Given the description of an element on the screen output the (x, y) to click on. 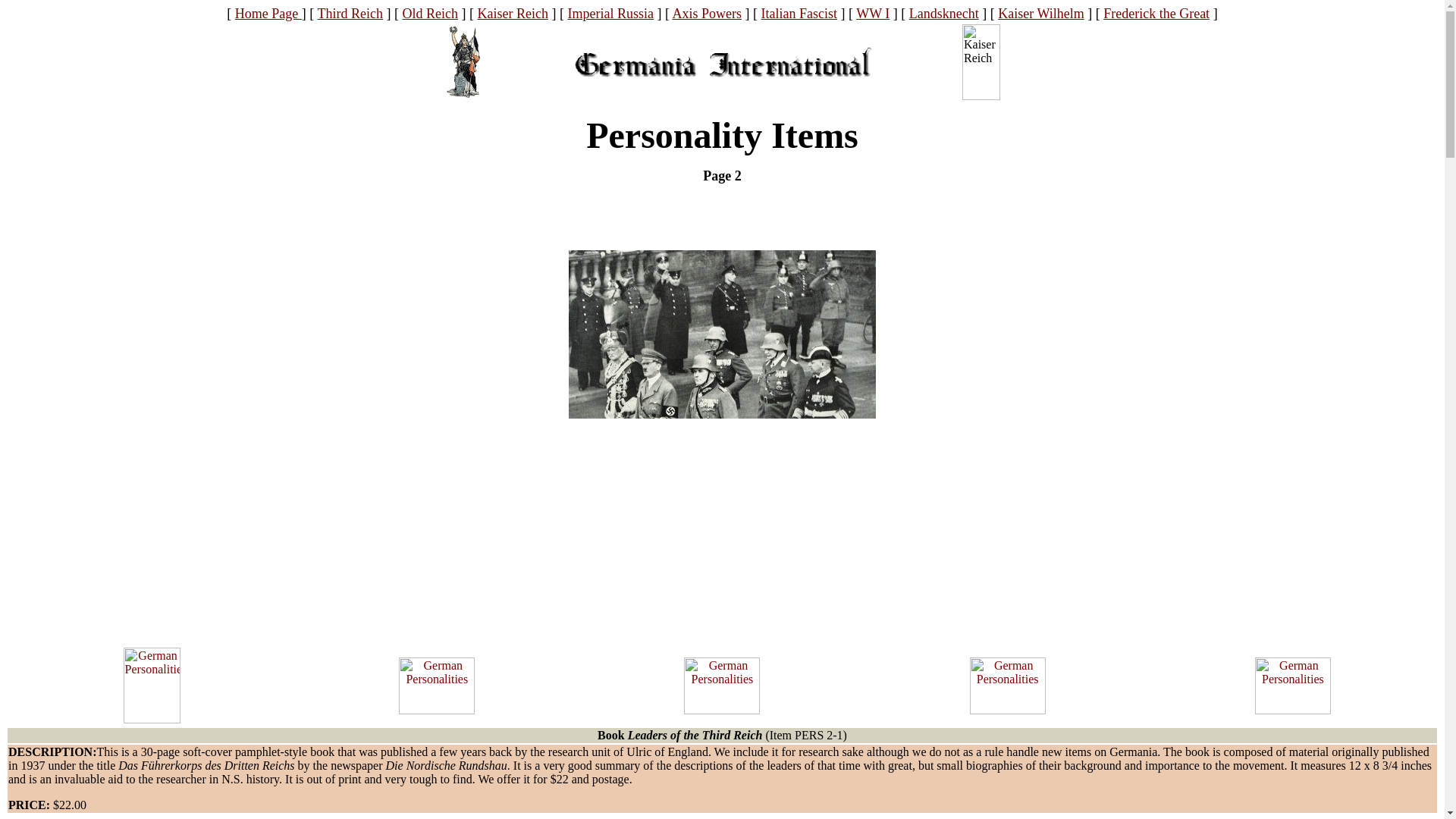
Imperial Russia (609, 13)
Axis Powers (706, 13)
Old Reich (429, 13)
Italian Fascist (797, 13)
Kaiser Reich (512, 13)
Landsknecht (943, 13)
WW I (872, 13)
Third Reich (349, 13)
Home Page (267, 13)
Kaiser Wilhelm (1040, 13)
